Given the description of an element on the screen output the (x, y) to click on. 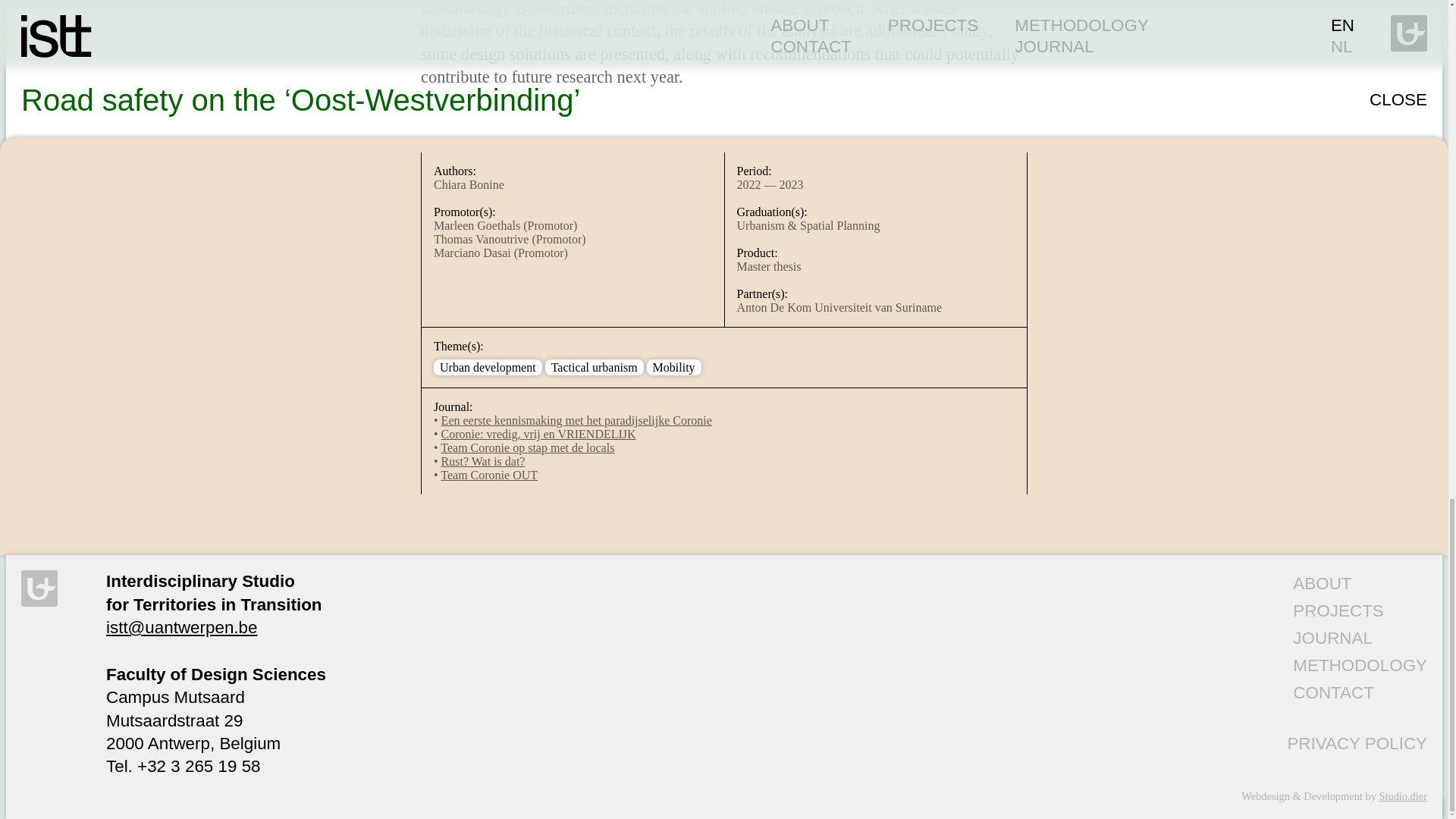
Een eerste kennismaking met het paradijselijke Coronie (576, 420)
Mobility (673, 367)
Team Coronie OUT (489, 474)
CONTACT (1333, 692)
Urban development (487, 367)
Rust? Wat is dat? (483, 461)
ABOUT (1321, 583)
PROJECTS (1337, 610)
PRIVACY POLICY (1356, 742)
JOURNAL (1332, 637)
